Given the description of an element on the screen output the (x, y) to click on. 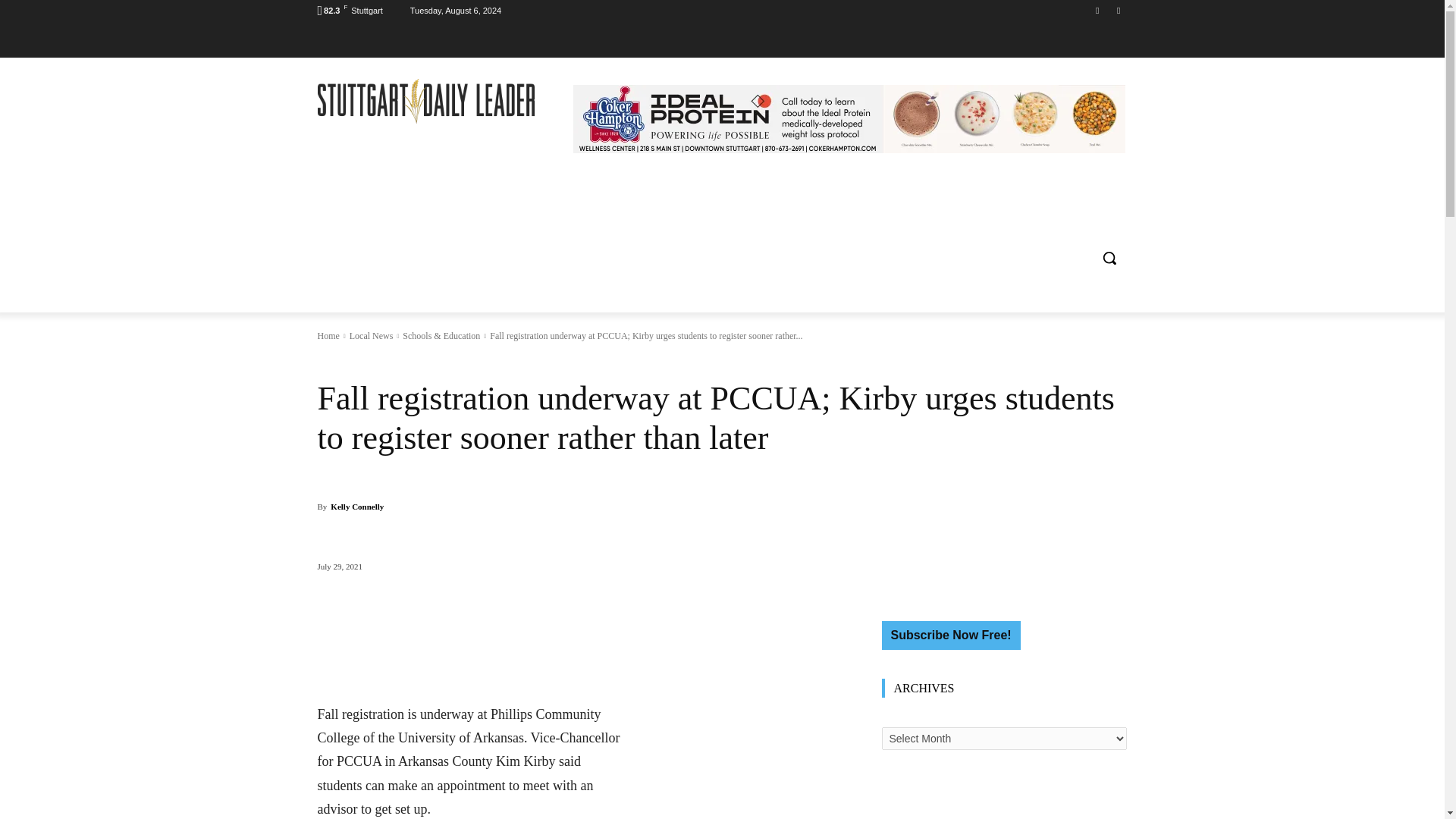
View all posts in Local News (371, 335)
Twitter (1117, 9)
Facebook (1097, 9)
